Given the description of an element on the screen output the (x, y) to click on. 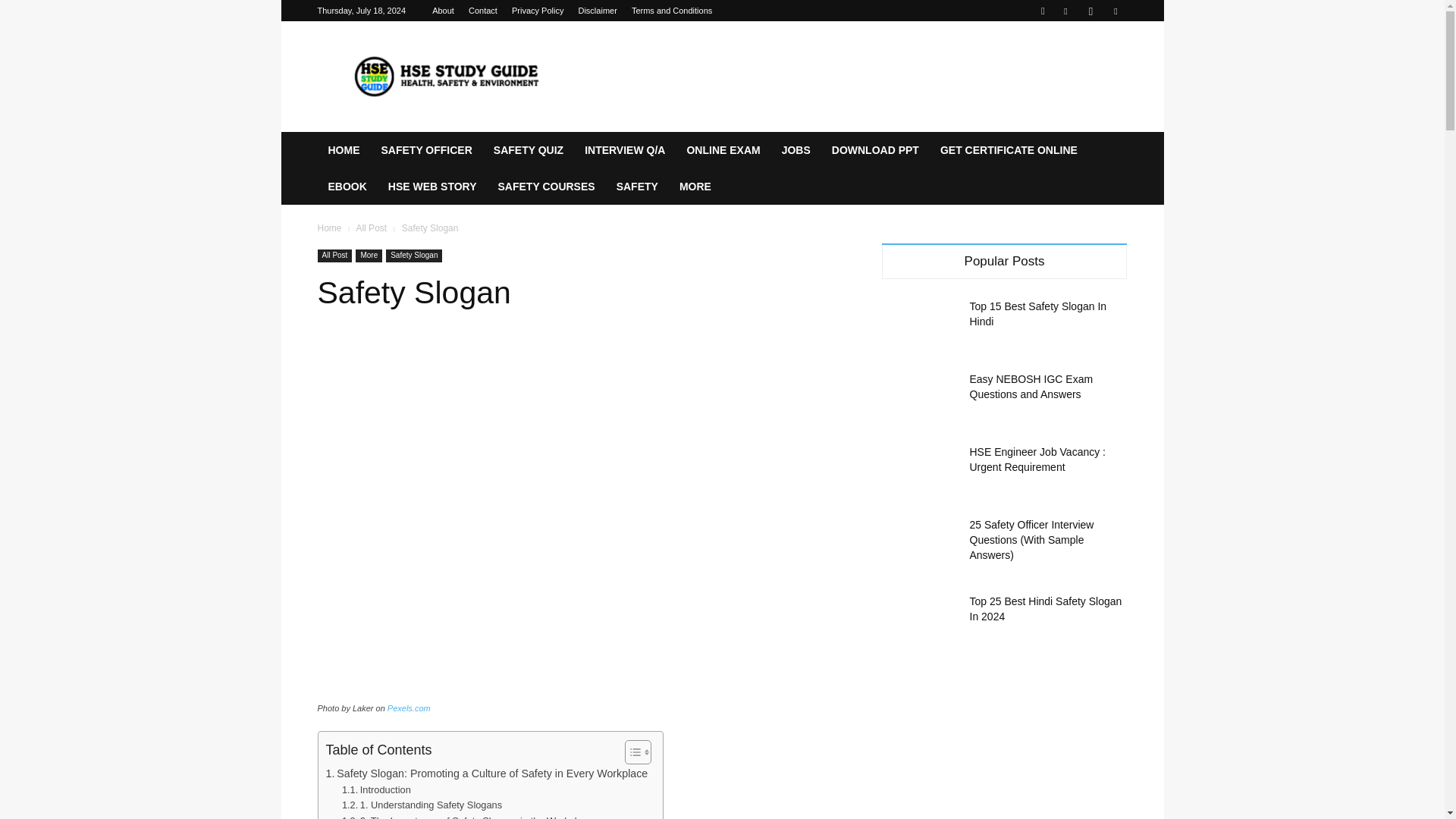
Facebook (1065, 10)
Instagram (1090, 10)
1. Understanding Safety Slogans (422, 805)
2. The Importance of Safety Slogans in the Workplace (467, 816)
Youtube (1114, 10)
Introduction (376, 790)
View all posts in All Post (371, 227)
